Given the description of an element on the screen output the (x, y) to click on. 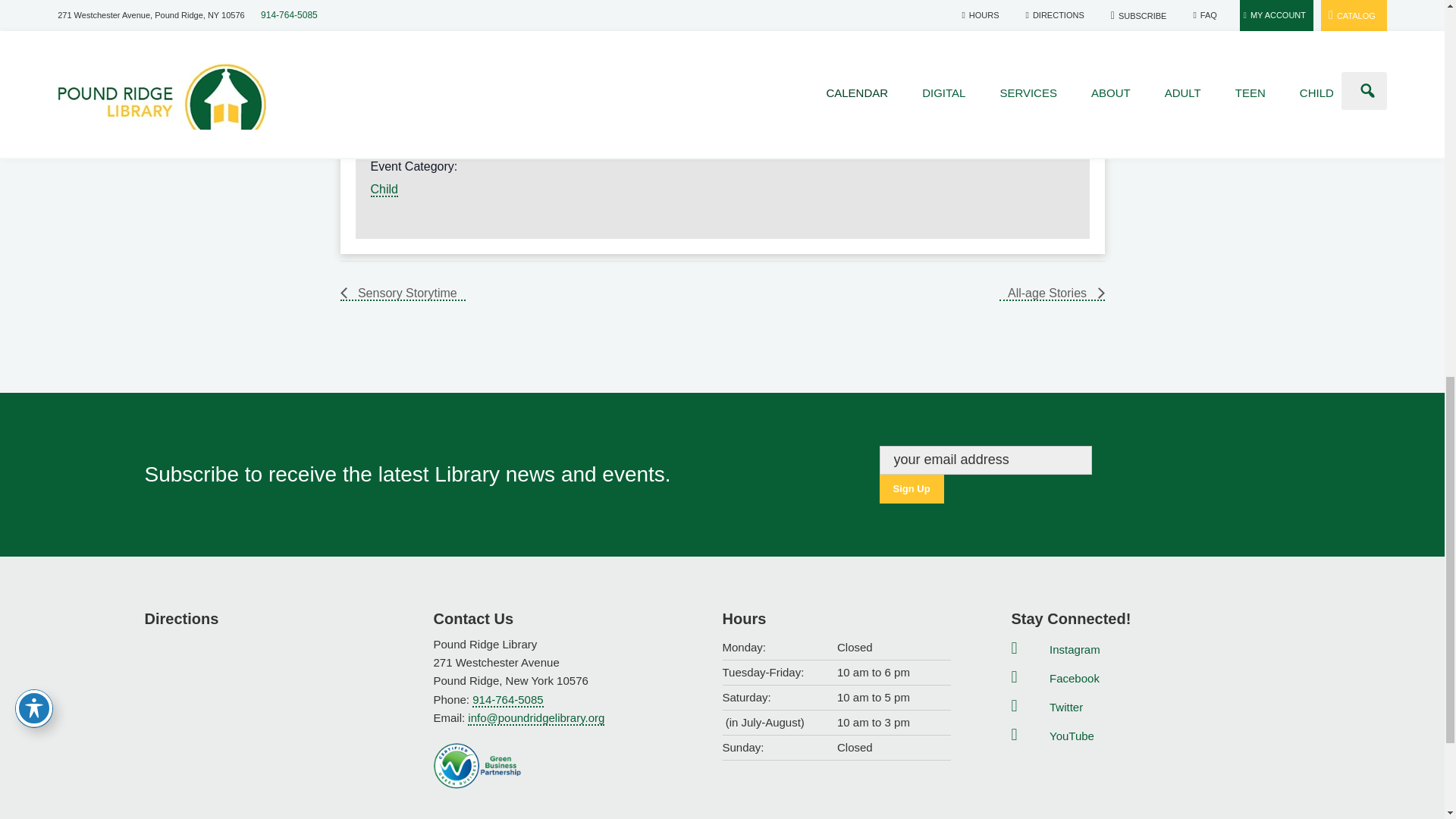
Sign Up (911, 489)
2023-09-01 (421, 79)
2023-09-01 (477, 134)
